Given the description of an element on the screen output the (x, y) to click on. 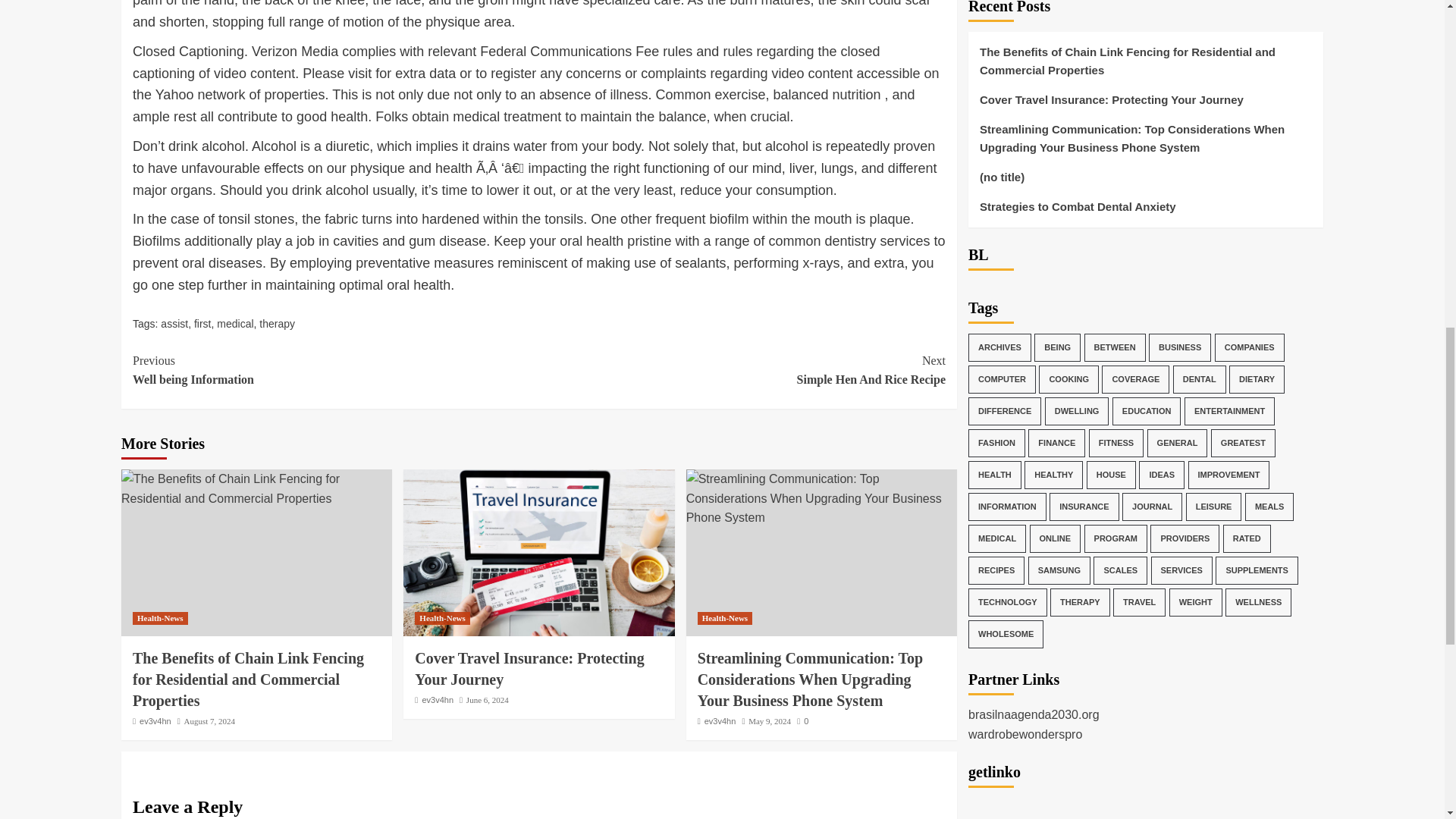
Health-News (724, 617)
June 6, 2024 (486, 699)
medical (234, 322)
ev3v4hn (437, 699)
ev3v4hn (155, 720)
August 7, 2024 (741, 370)
Health-News (209, 720)
Cover Travel Insurance: Protecting Your Journey (159, 617)
therapy (528, 668)
